Given the description of an element on the screen output the (x, y) to click on. 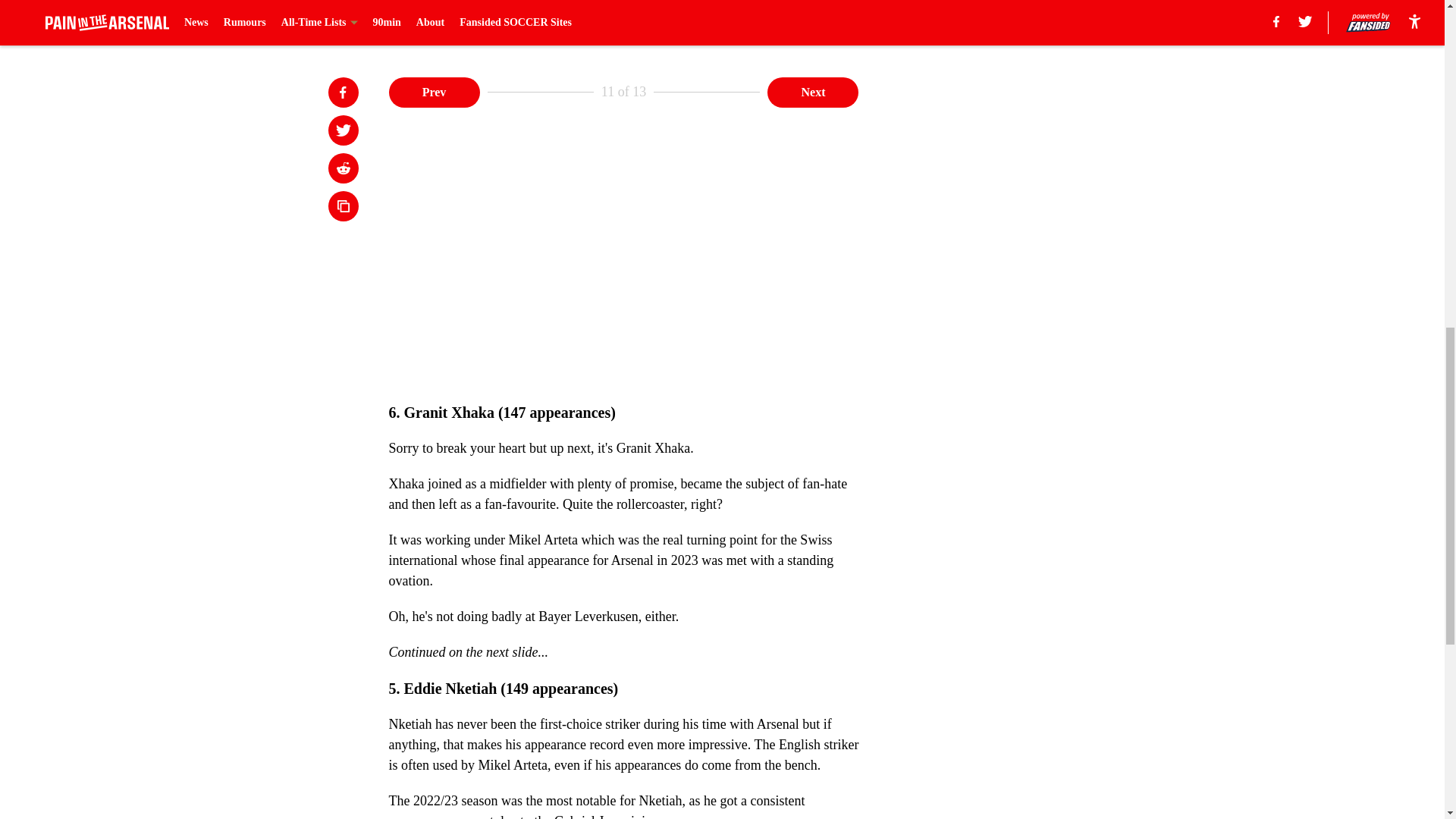
Next (813, 91)
Prev (433, 91)
